Given the description of an element on the screen output the (x, y) to click on. 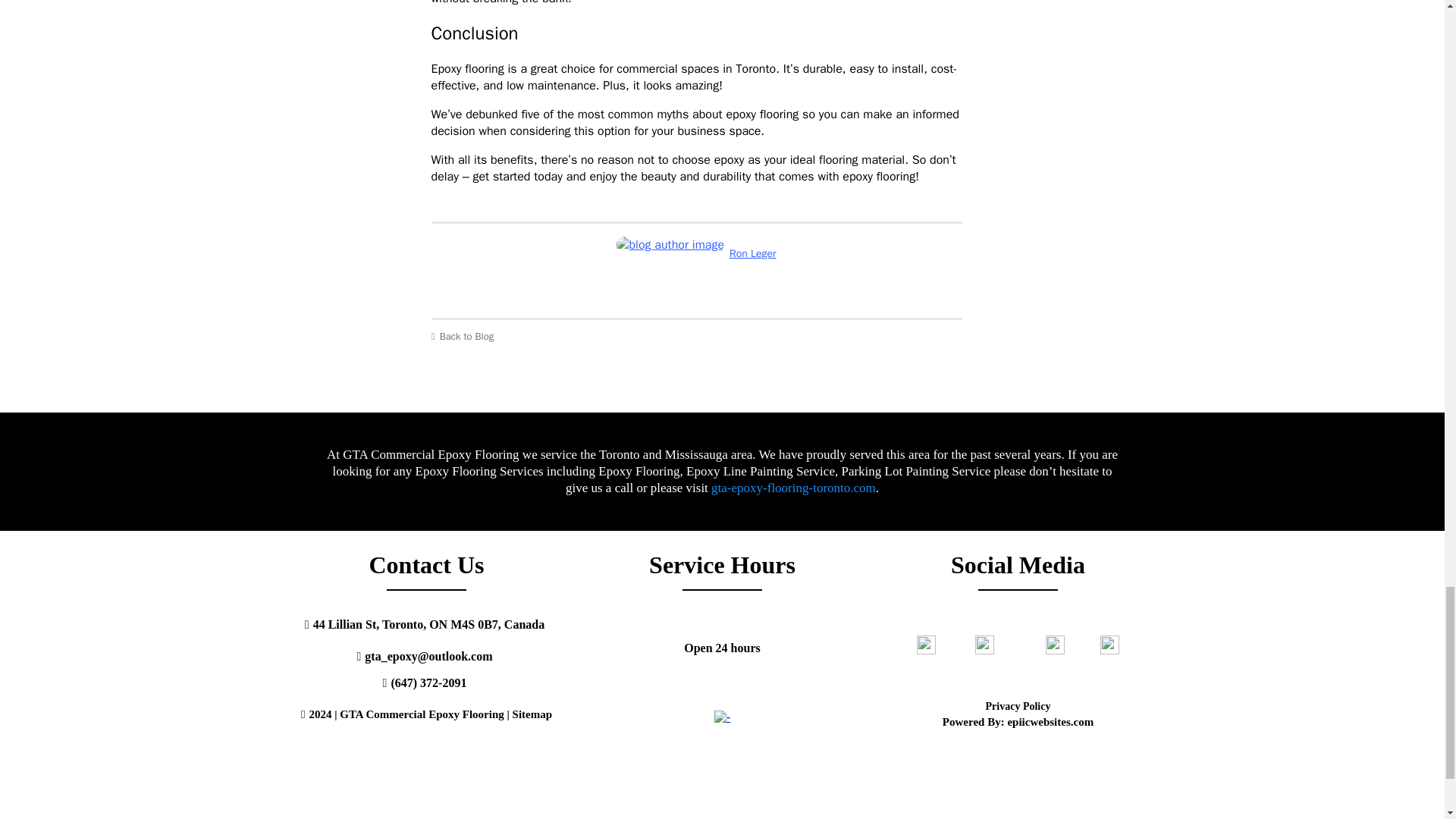
gta-epoxy-flooring-toronto.com (793, 487)
Back to Blog (695, 336)
Ron Leger (695, 253)
